Given the description of an element on the screen output the (x, y) to click on. 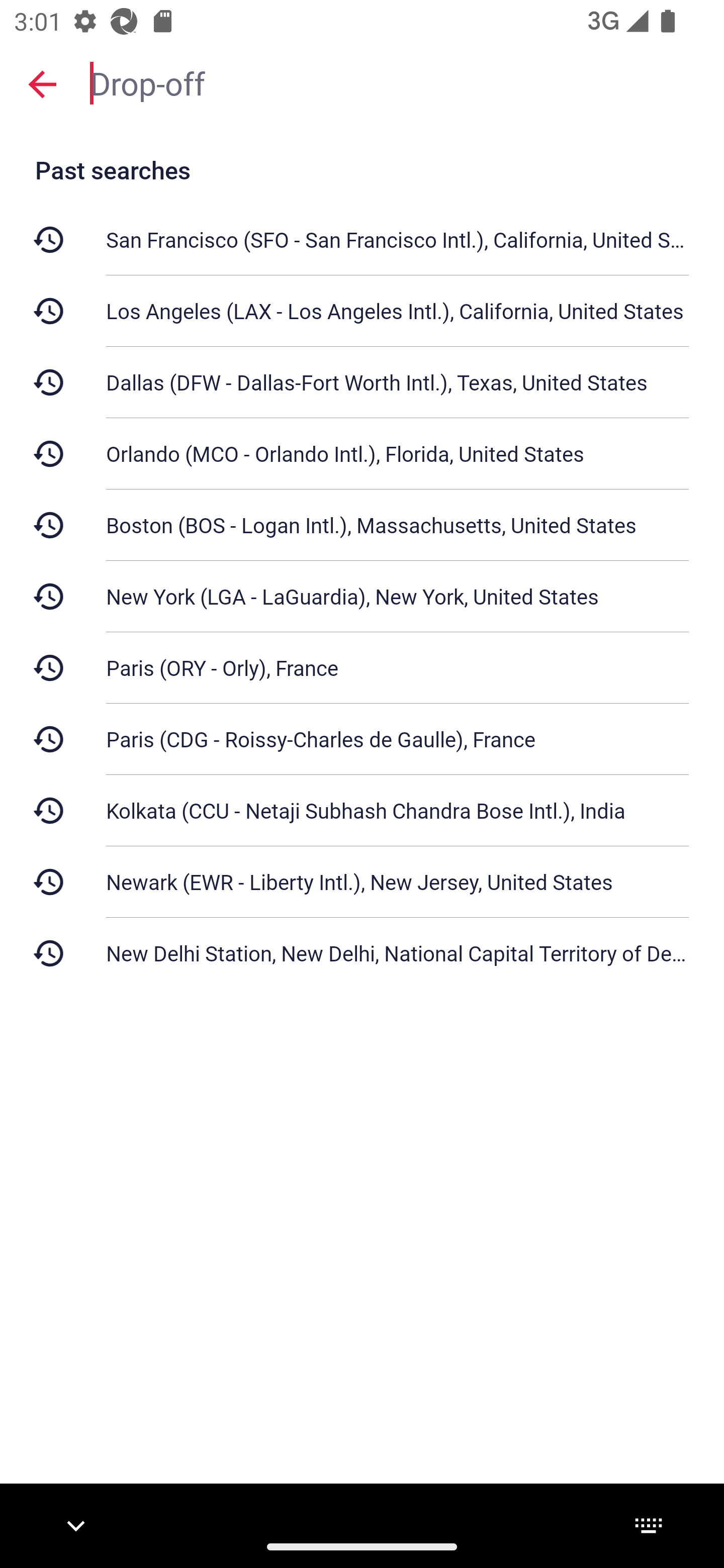
Drop-off,  (397, 82)
Close search screen (41, 83)
